Given the description of an element on the screen output the (x, y) to click on. 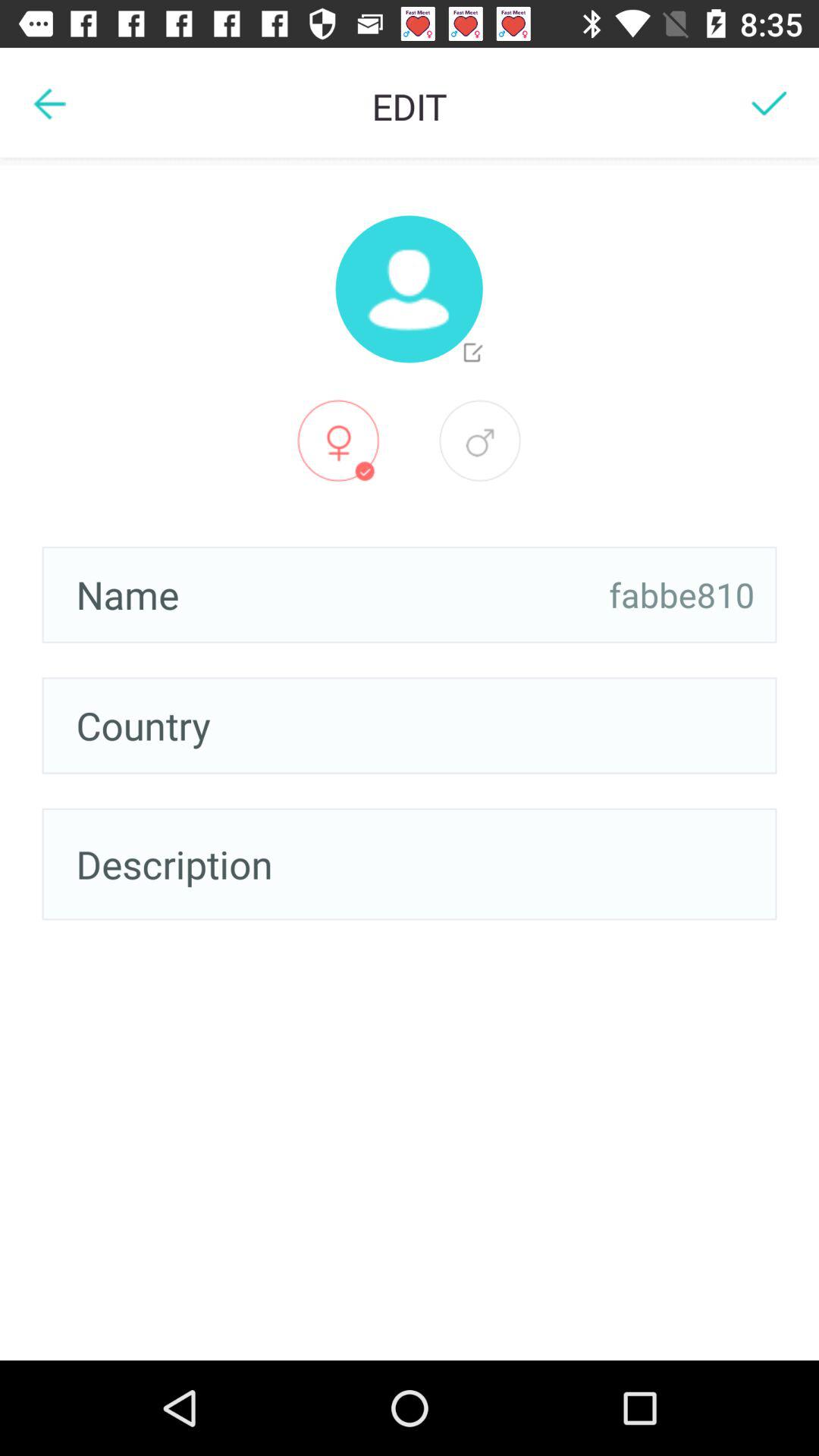
add a profile photo (408, 288)
